Given the description of an element on the screen output the (x, y) to click on. 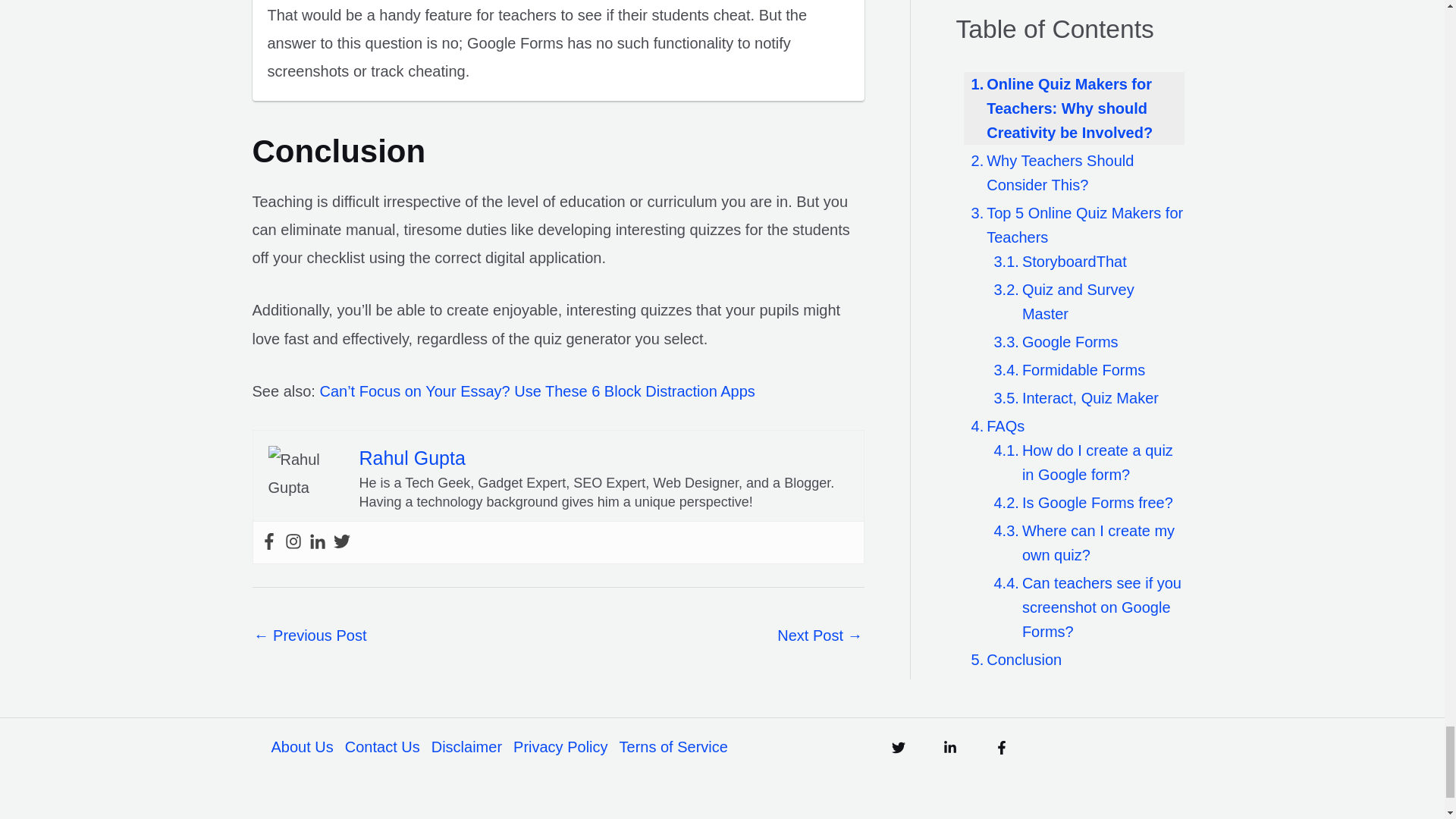
How to Change Icons on Android Without a Launcher? (309, 637)
Rahul Gupta (412, 457)
